Given the description of an element on the screen output the (x, y) to click on. 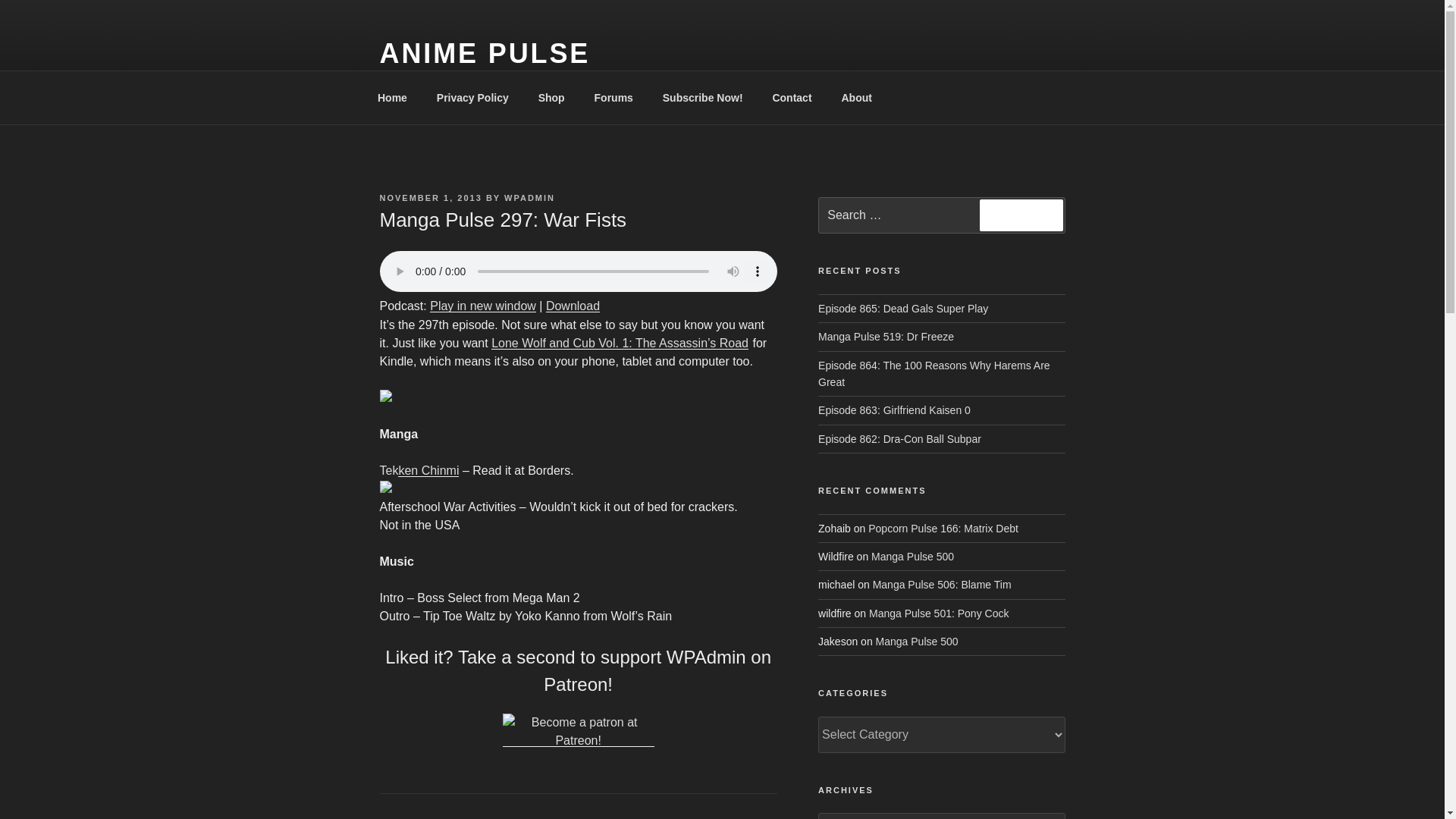
Forums (613, 97)
Privacy Policy (472, 97)
WPADMIN (528, 197)
ANIME PULSE (483, 52)
Tekken Chinmi (418, 470)
Popcorn Pulse 166: Matrix Debt (942, 527)
Episode 864: The 100 Reasons Why Harems Are Great (933, 373)
Episode 862: Dra-Con Ball Subpar (899, 439)
Shop (551, 97)
Manga Pulse 500 (911, 556)
